Given the description of an element on the screen output the (x, y) to click on. 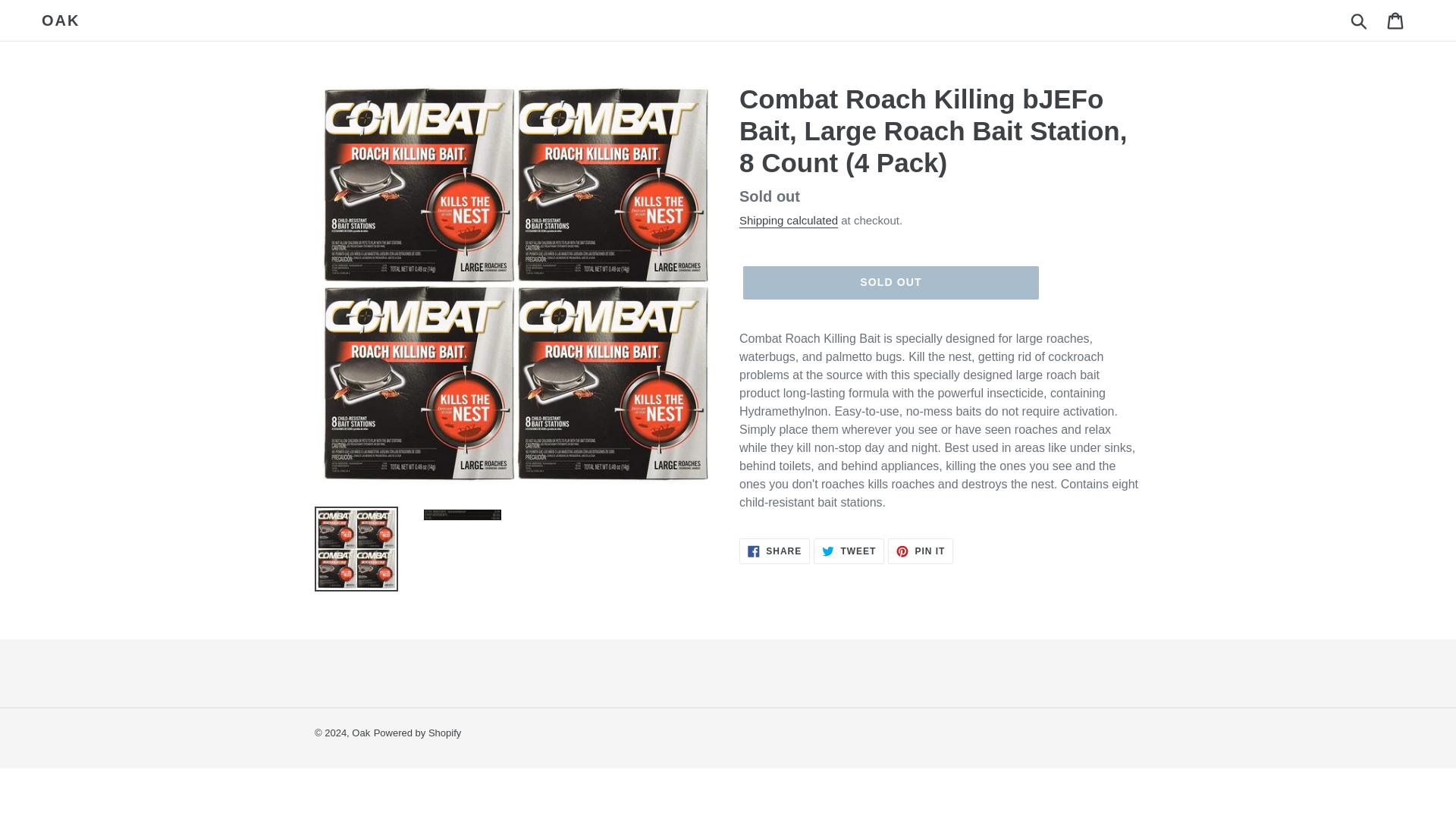
Powered by Shopify (417, 732)
Oak (360, 732)
Submit (774, 551)
SOLD OUT (1359, 20)
OAK (920, 551)
Shipping calculated (890, 282)
Cart (61, 20)
